Given the description of an element on the screen output the (x, y) to click on. 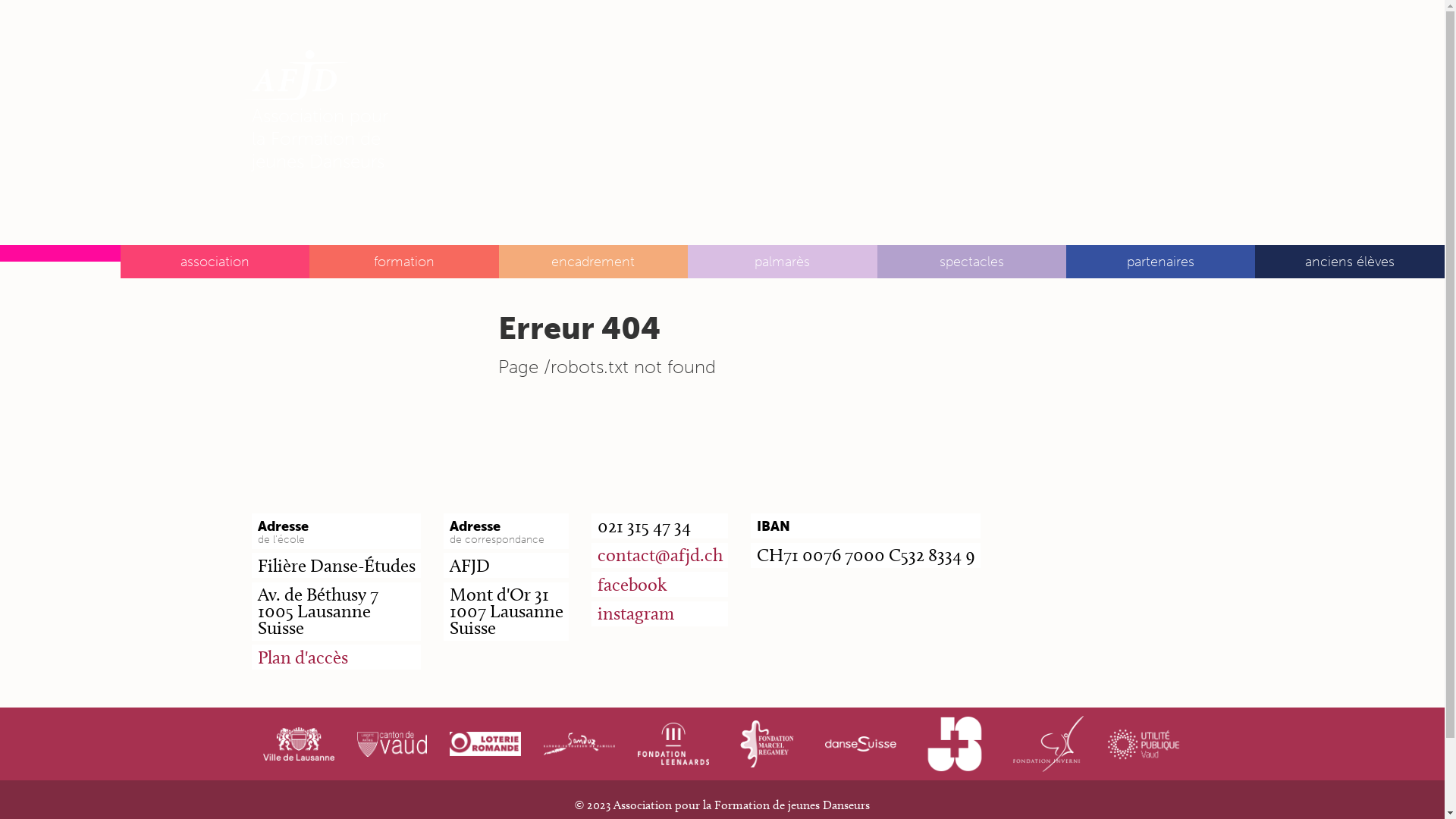
facebook Element type: text (631, 584)
instagram Element type: text (635, 613)
Association pour
la Formation de
jeunes Danseurs Element type: text (319, 86)
formation Element type: text (403, 261)
partenaires Element type: text (1160, 261)
contact@afjd.ch Element type: text (659, 554)
encadrement Element type: text (592, 261)
association Element type: text (214, 261)
spectacles Element type: text (971, 261)
